Given the description of an element on the screen output the (x, y) to click on. 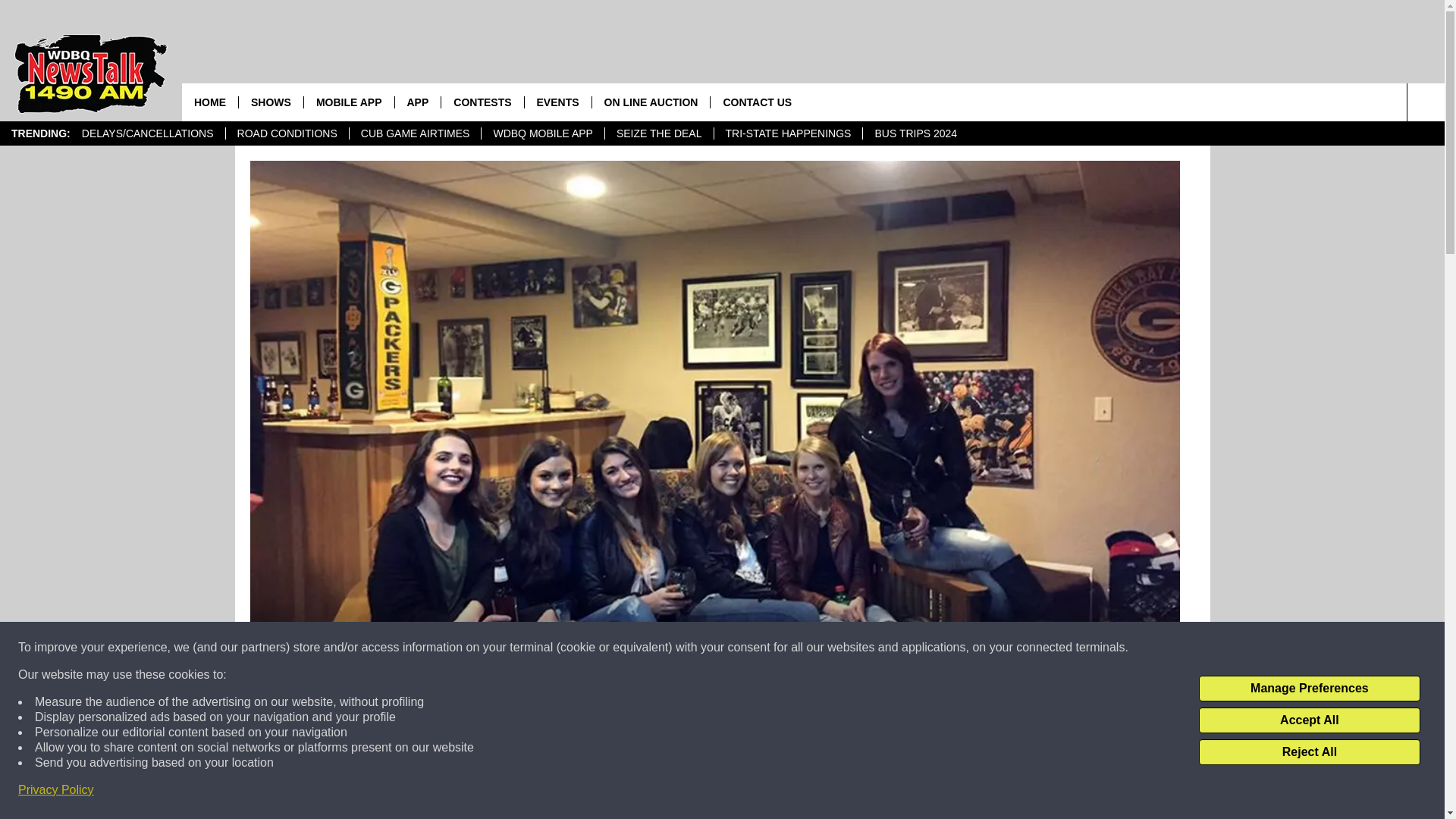
SEIZE THE DEAL (658, 133)
CUB GAME AIRTIMES (415, 133)
Reject All (1309, 751)
Manage Preferences (1309, 688)
Accept All (1309, 720)
WDBQ MOBILE APP (542, 133)
Privacy Policy (55, 789)
CONTESTS (481, 102)
SHOWS (270, 102)
MOBILE APP (348, 102)
TRI-STATE HAPPENINGS (787, 133)
Share on Facebook (517, 791)
EVENTS (557, 102)
ROAD CONDITIONS (287, 133)
HOME (210, 102)
